Given the description of an element on the screen output the (x, y) to click on. 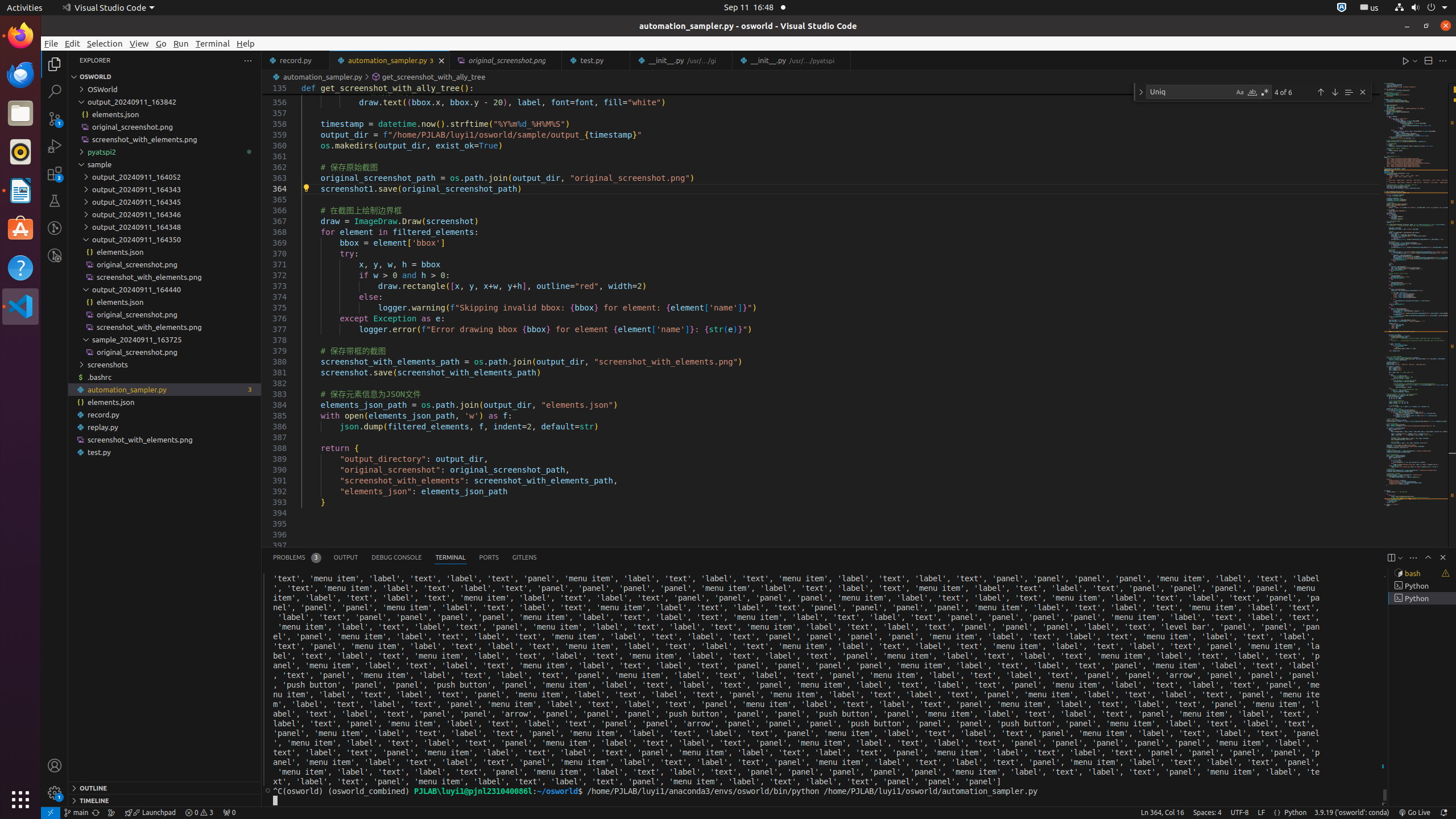
output_20240911_164345 Element type: tree-item (164, 201)
screenshot_with_elements.png Element type: tree-item (164, 439)
Warnings: 3 Element type: push-button (199, 812)
Toggle Replace Element type: push-button (1140, 92)
